Given the description of an element on the screen output the (x, y) to click on. 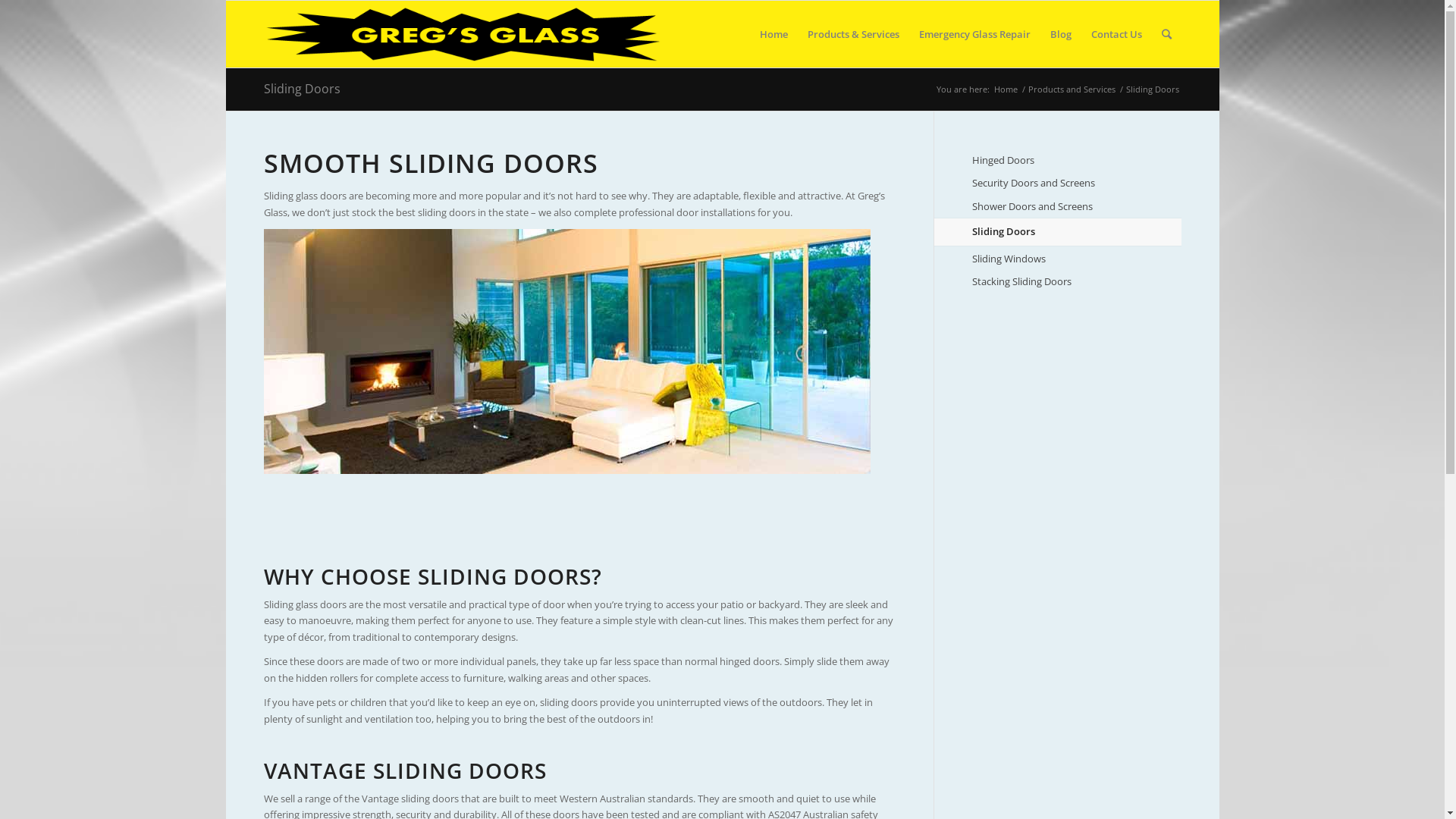
Sliding Doors Element type: text (301, 88)
Stacking Sliding Doors Element type: text (1076, 281)
Home Element type: text (1005, 88)
Blog Element type: text (1060, 33)
Products & Services Element type: text (853, 33)
Sliding Windows Element type: text (1076, 258)
Home Element type: text (773, 33)
Contact Us Element type: text (1116, 33)
Products and Services Element type: text (1071, 88)
Security Doors and Screens Element type: text (1076, 183)
Sliding Doors Element type: text (1076, 231)
Hinged Doors Element type: text (1076, 160)
Emergency Glass Repair Element type: text (973, 33)
Shower Doors and Screens Element type: text (1076, 206)
